Given the description of an element on the screen output the (x, y) to click on. 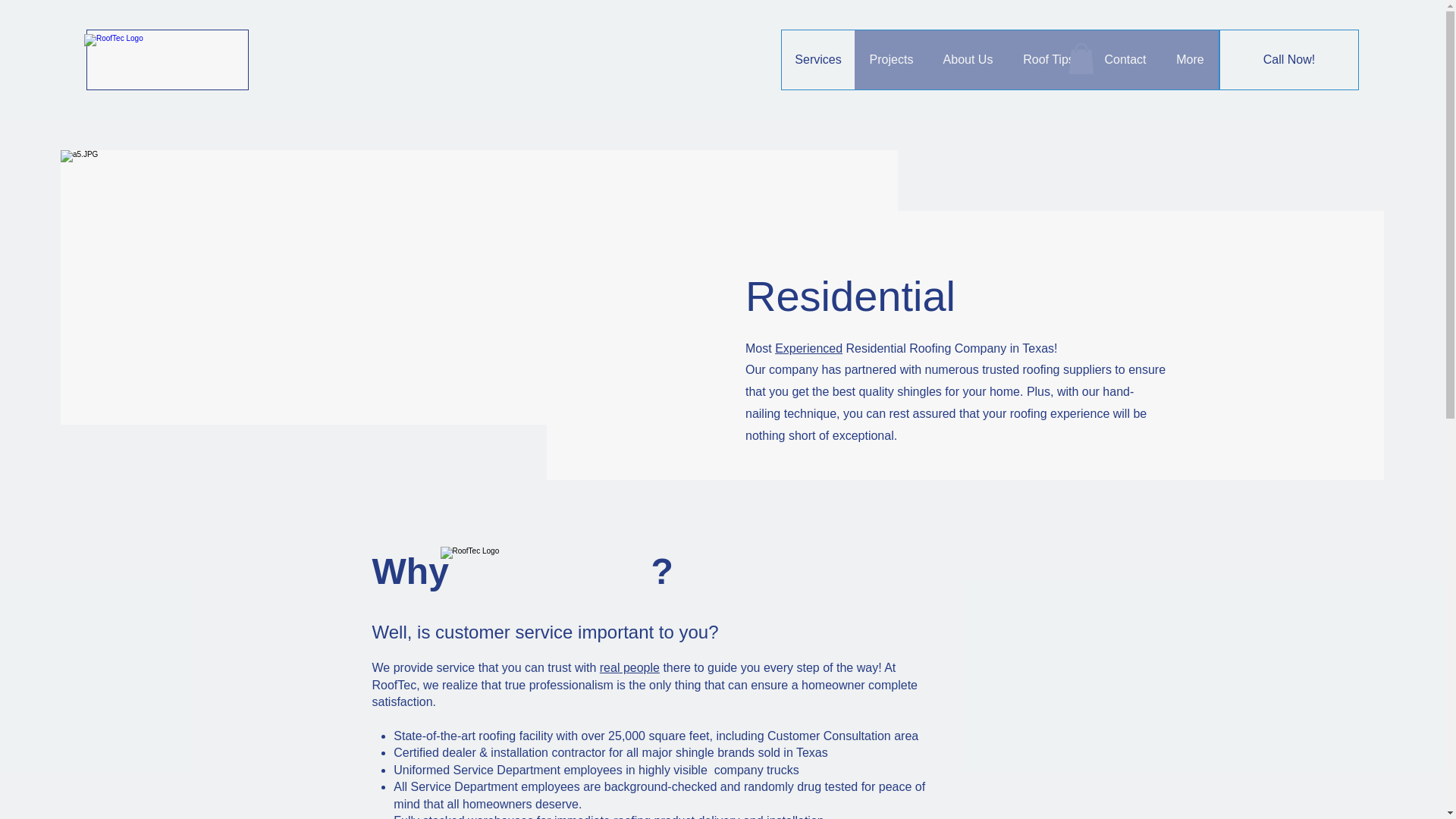
Projects (890, 59)
Call Now! (1289, 59)
Roof Tips (1048, 59)
About Us (967, 59)
Services (817, 59)
Contact (1124, 59)
